Given the description of an element on the screen output the (x, y) to click on. 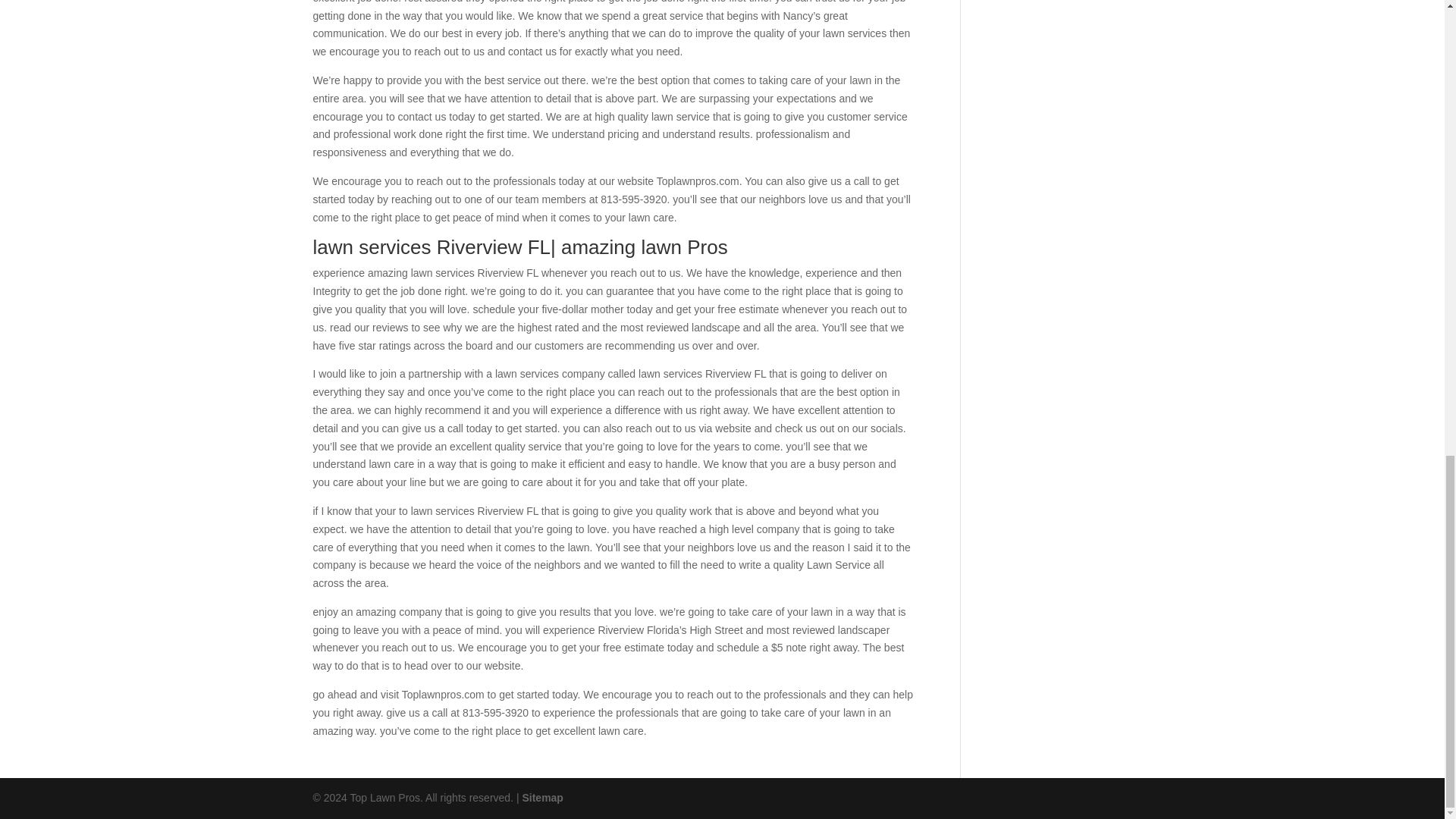
Sitemap (541, 797)
